Given the description of an element on the screen output the (x, y) to click on. 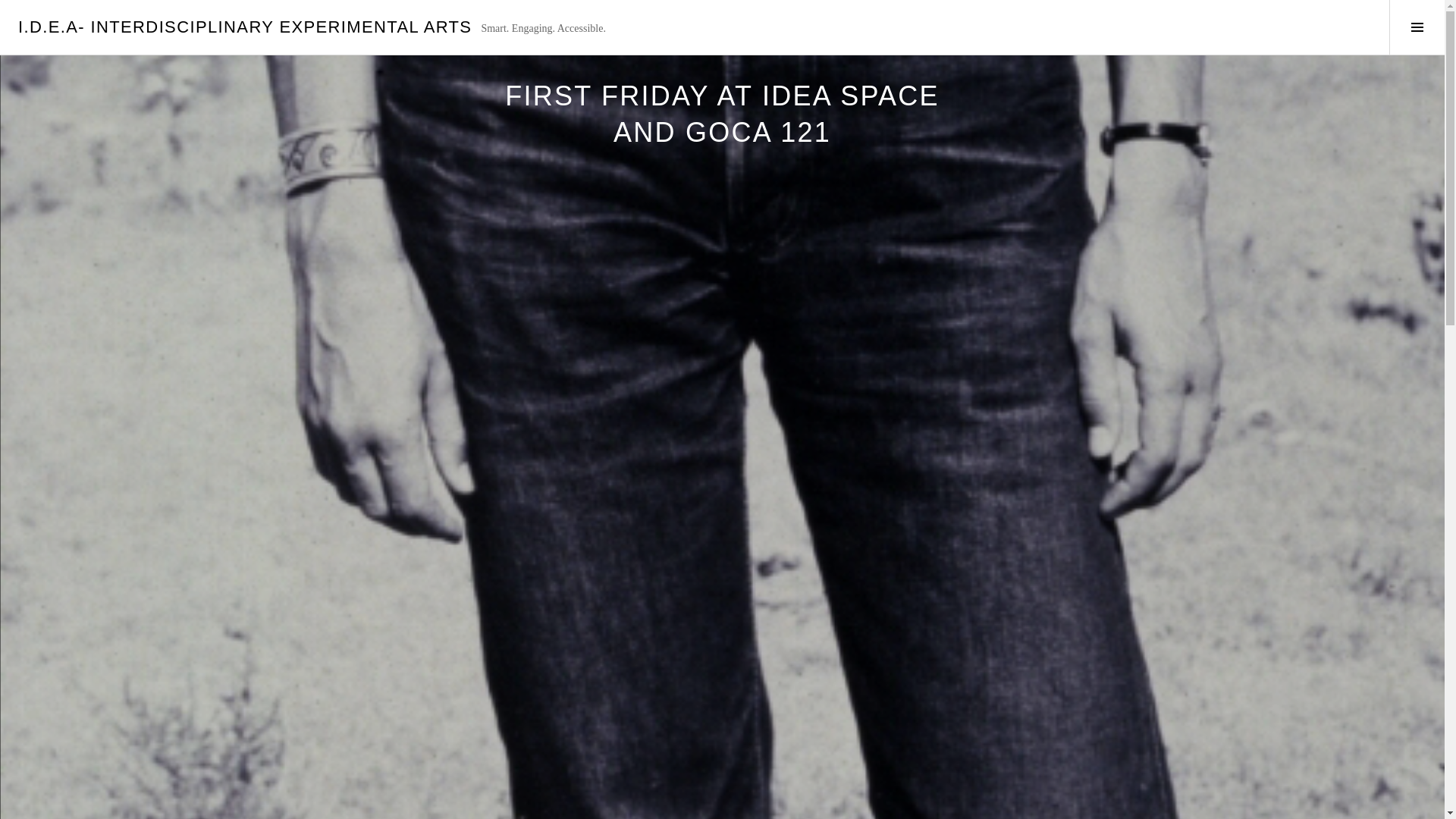
I.D.E.A- INTERDISCIPLINARY EXPERIMENTAL ARTS (244, 26)
